Given the description of an element on the screen output the (x, y) to click on. 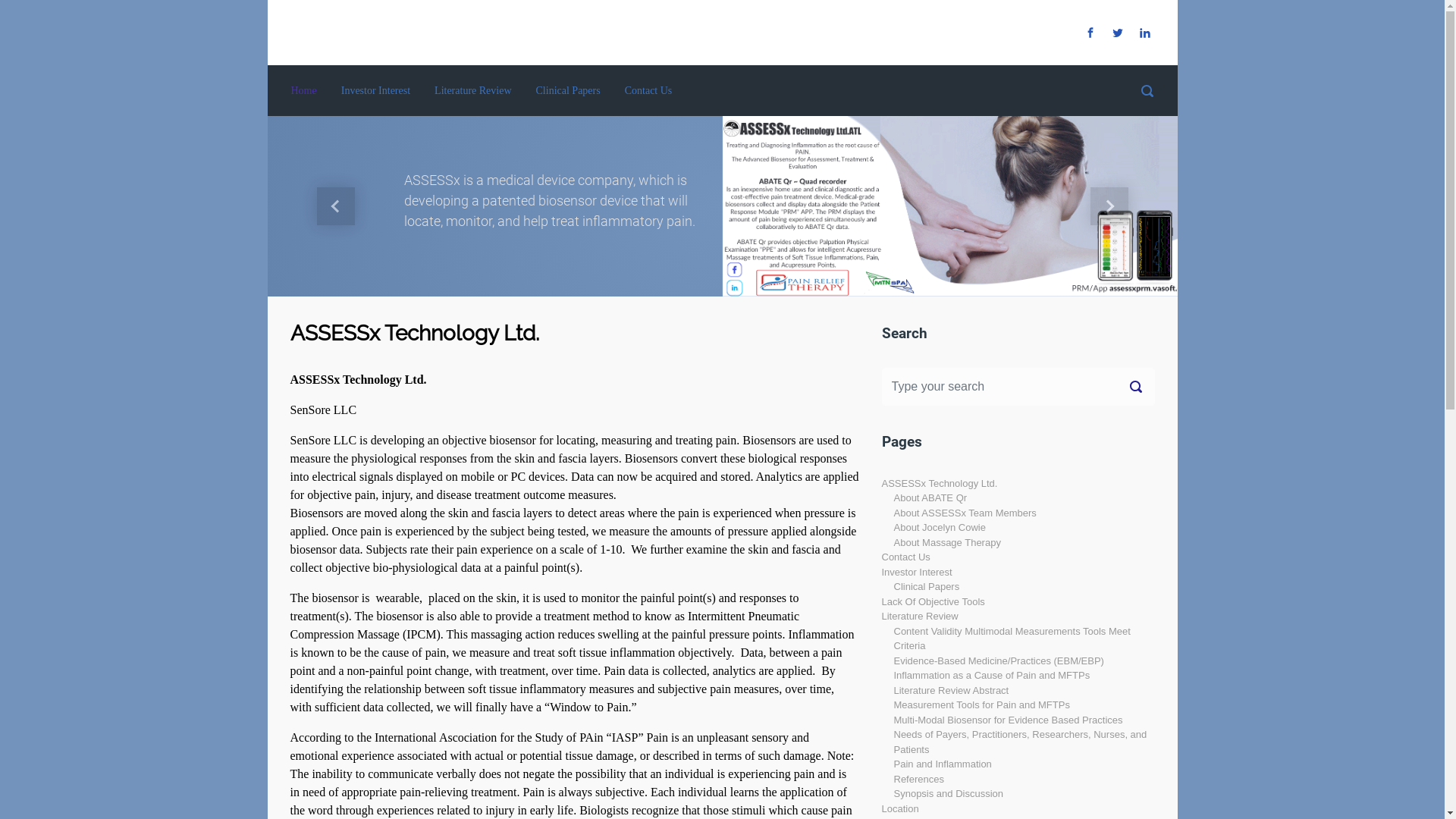
Contact Us Element type: text (648, 90)
Investor Interest Element type: text (375, 90)
ASSESSx Technology Ltd. Element type: text (939, 483)
Literature Review Element type: text (919, 615)
Investor Interest Element type: text (916, 571)
Multi-Modal Biosensor for Evidence Based Practices Element type: text (1007, 719)
References Element type: text (918, 778)
Lack Of Objective Tools Element type: text (932, 601)
Literature Review Abstract Element type: text (950, 690)
Clinical Papers Element type: text (926, 586)
Pain and Inflammation Element type: text (942, 763)
Clinical Papers Element type: text (568, 90)
Previous Element type: text (334, 206)
About Jocelyn Cowie Element type: text (939, 527)
Literature Review Element type: text (472, 90)
Next Element type: text (1108, 206)
About Massage Therapy Element type: text (946, 542)
About ASSESSx Team Members Element type: text (964, 512)
Synopsis and Discussion Element type: text (948, 793)
Home Element type: text (304, 90)
Inflammation as a Cause of Pain and MFTPs Element type: text (991, 675)
Contact Us Element type: text (905, 556)
About ABATE Qr Element type: text (929, 497)
Content Validity Multimodal Measurements Tools Meet Criteria Element type: text (1011, 638)
Evidence-Based Medicine/Practices (EBM/EBP) Element type: text (998, 660)
Measurement Tools for Pain and MFTPs Element type: text (981, 704)
Location Element type: text (899, 808)
